Given the description of an element on the screen output the (x, y) to click on. 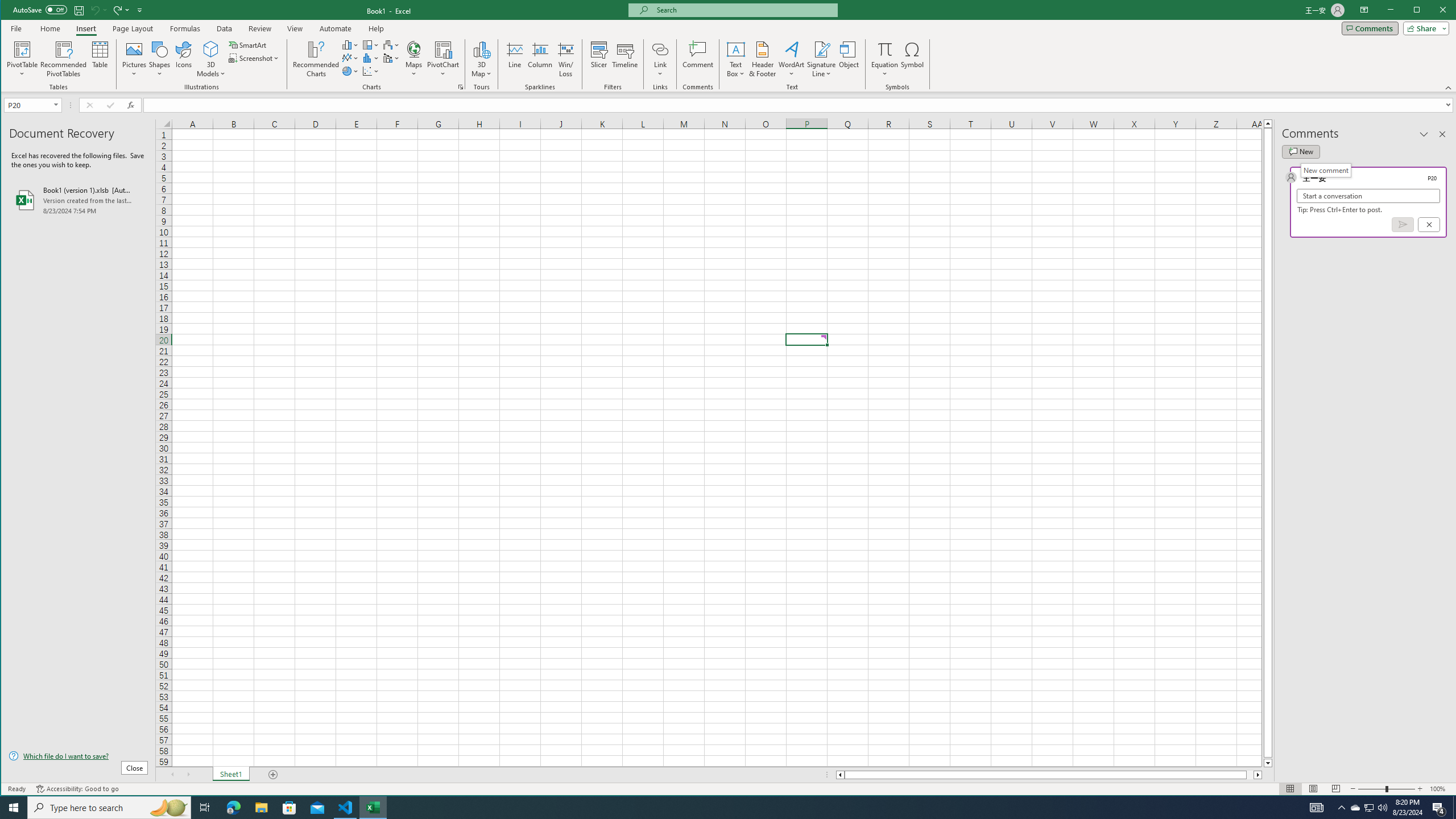
WordArt (791, 59)
Q2790: 100% (1382, 807)
Normal (1290, 788)
Notification Chevron (1341, 807)
Close (1445, 11)
PivotTable (22, 48)
Slicer... (598, 59)
SmartArt... (248, 44)
Insert Pie or Doughnut Chart (350, 70)
Running applications (717, 807)
Task Pane Options (1423, 133)
Book1 (version 1).xlsb  [AutoRecovered] (78, 199)
Data (224, 28)
Ribbon Display Options (1364, 9)
